Given the description of an element on the screen output the (x, y) to click on. 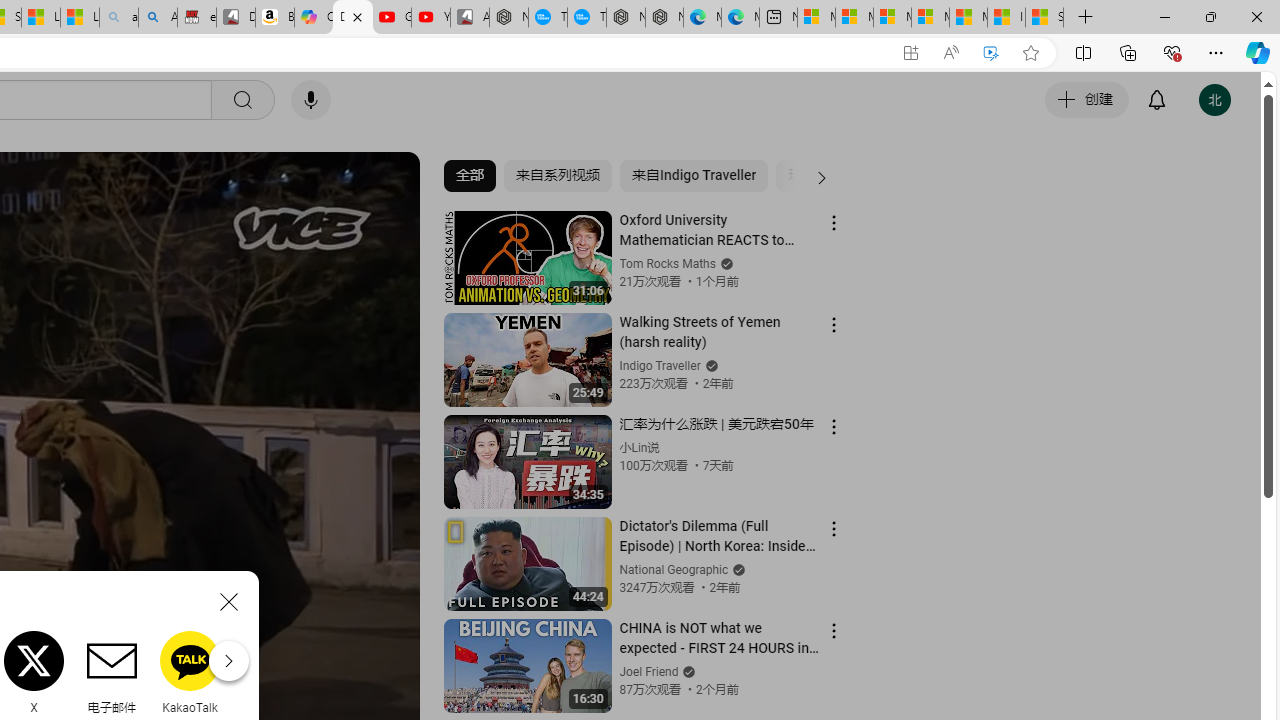
YouTube Kids - An App Created for Kids to Explore Content (431, 17)
I Gained 20 Pounds of Muscle in 30 Days! | Watch (1006, 17)
Gloom - YouTube (391, 17)
Copilot (313, 17)
All Cubot phones (469, 17)
KakaoTalk (189, 672)
